Given the description of an element on the screen output the (x, y) to click on. 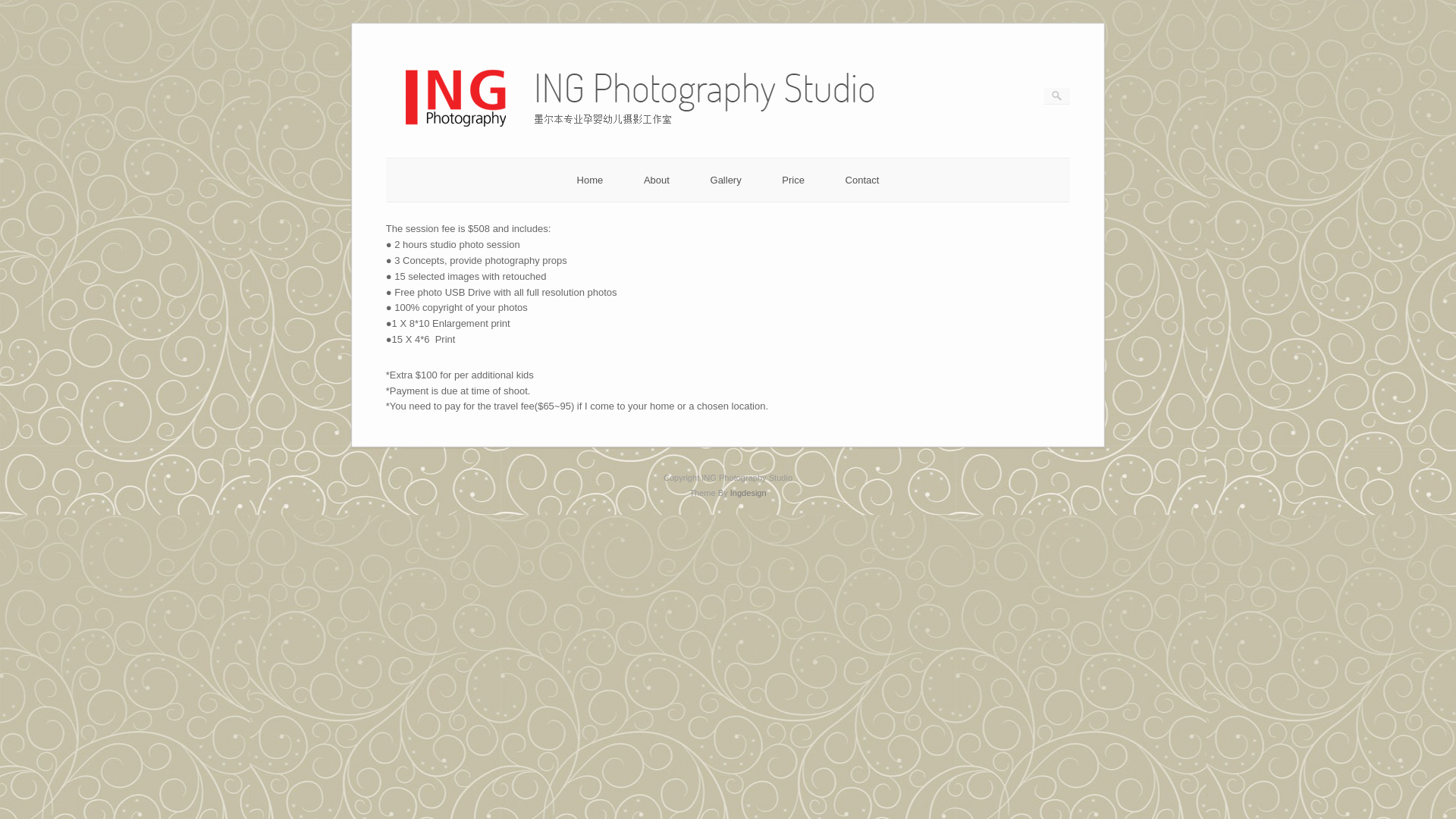
Price Element type: text (792, 179)
Search Element type: text (21, 7)
Ingdesign Element type: text (748, 492)
Home Element type: text (590, 179)
About Element type: text (656, 179)
Gallery Element type: text (725, 179)
Contact Element type: text (862, 179)
